Given the description of an element on the screen output the (x, y) to click on. 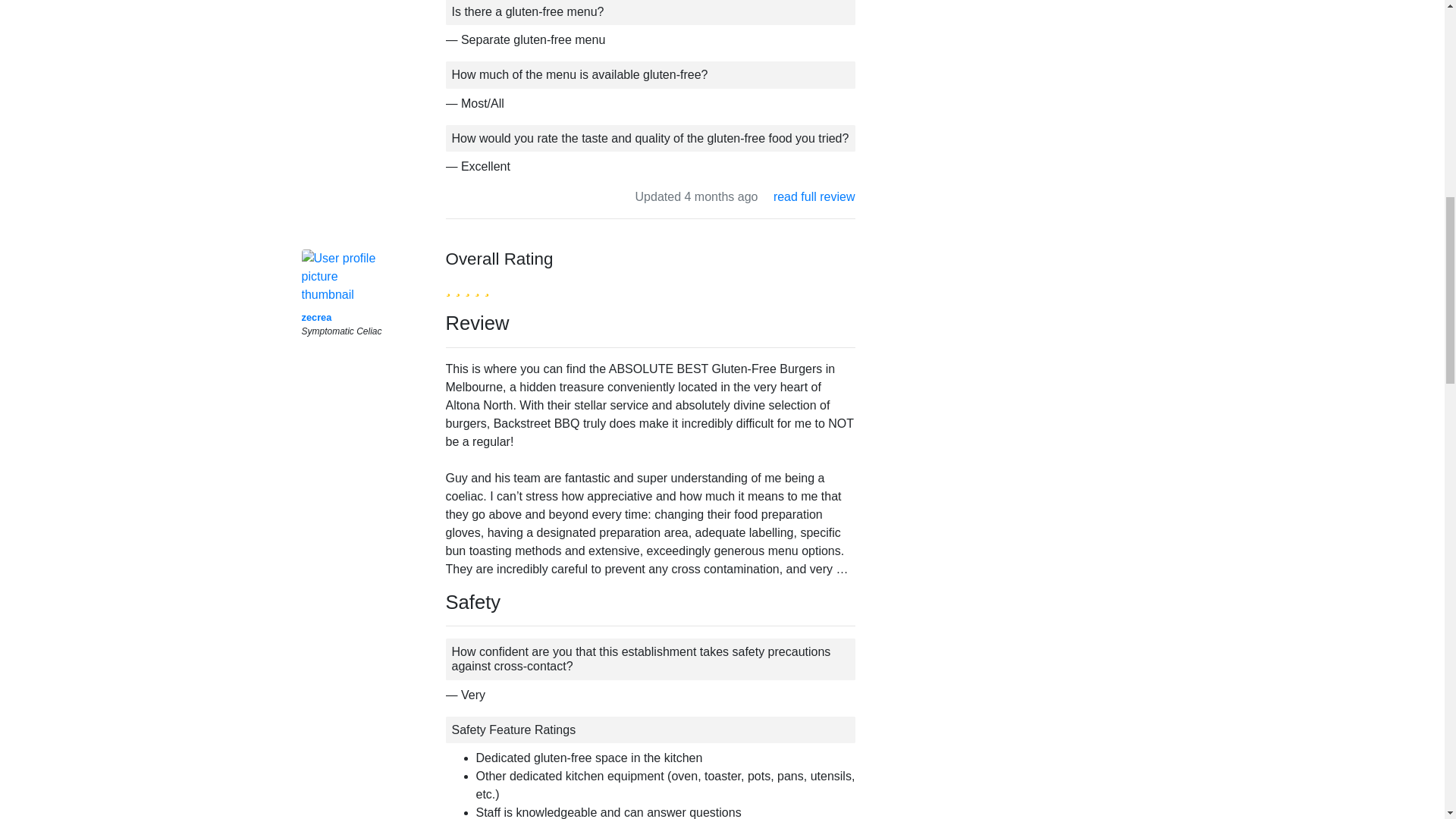
read full review (814, 196)
zecrea (316, 317)
5 star rating (467, 287)
